Given the description of an element on the screen output the (x, y) to click on. 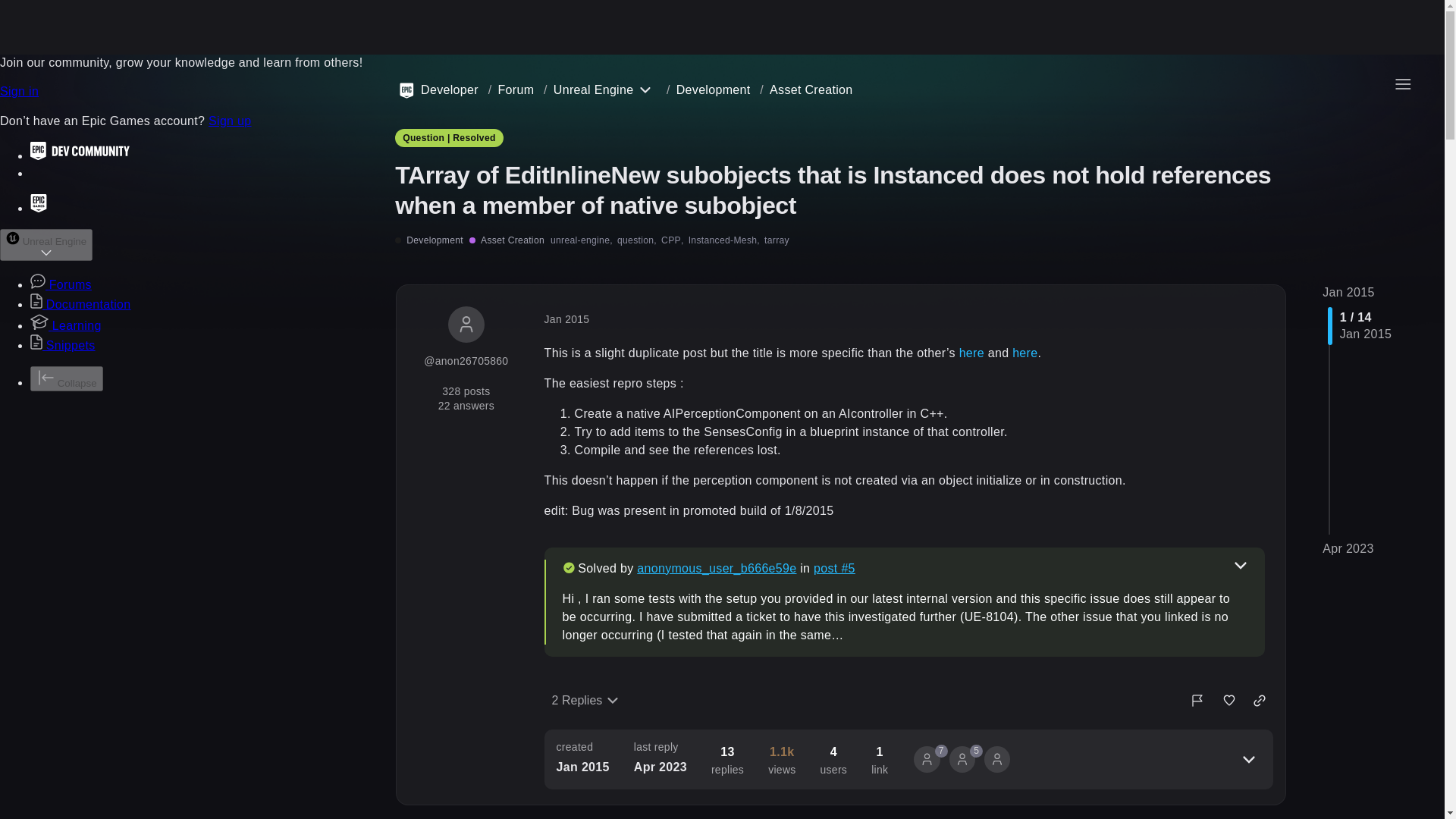
Apr 8, 2023 8:12 pm (660, 767)
2 Replies (585, 700)
Asset Creation (506, 240)
CPP (672, 240)
here (971, 352)
last reply (660, 747)
Jump to the first post (1348, 291)
Asset Creation (811, 89)
tarray (776, 240)
Jan 2015 (1348, 291)
Instanced-Mesh (724, 240)
Report Post (1197, 700)
question (636, 240)
unreal-engine (581, 240)
